Given the description of an element on the screen output the (x, y) to click on. 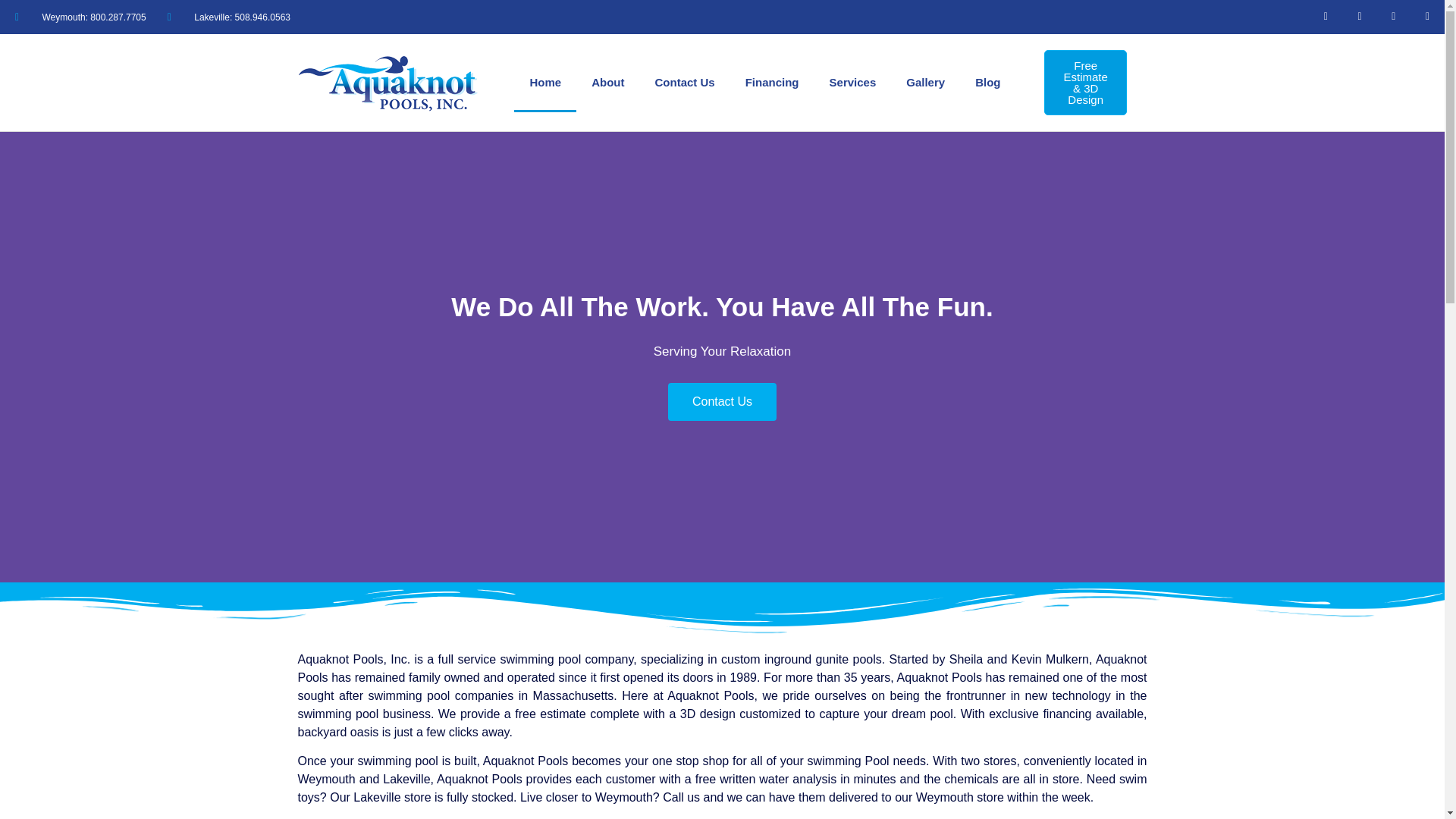
Weymouth: 800.287.7705 (80, 17)
Contact Us (685, 82)
Services (852, 82)
Lakeville: 508.946.0563 (228, 17)
Home (544, 82)
About (607, 82)
Financing (771, 82)
Gallery (925, 82)
Blog (986, 82)
